Given the description of an element on the screen output the (x, y) to click on. 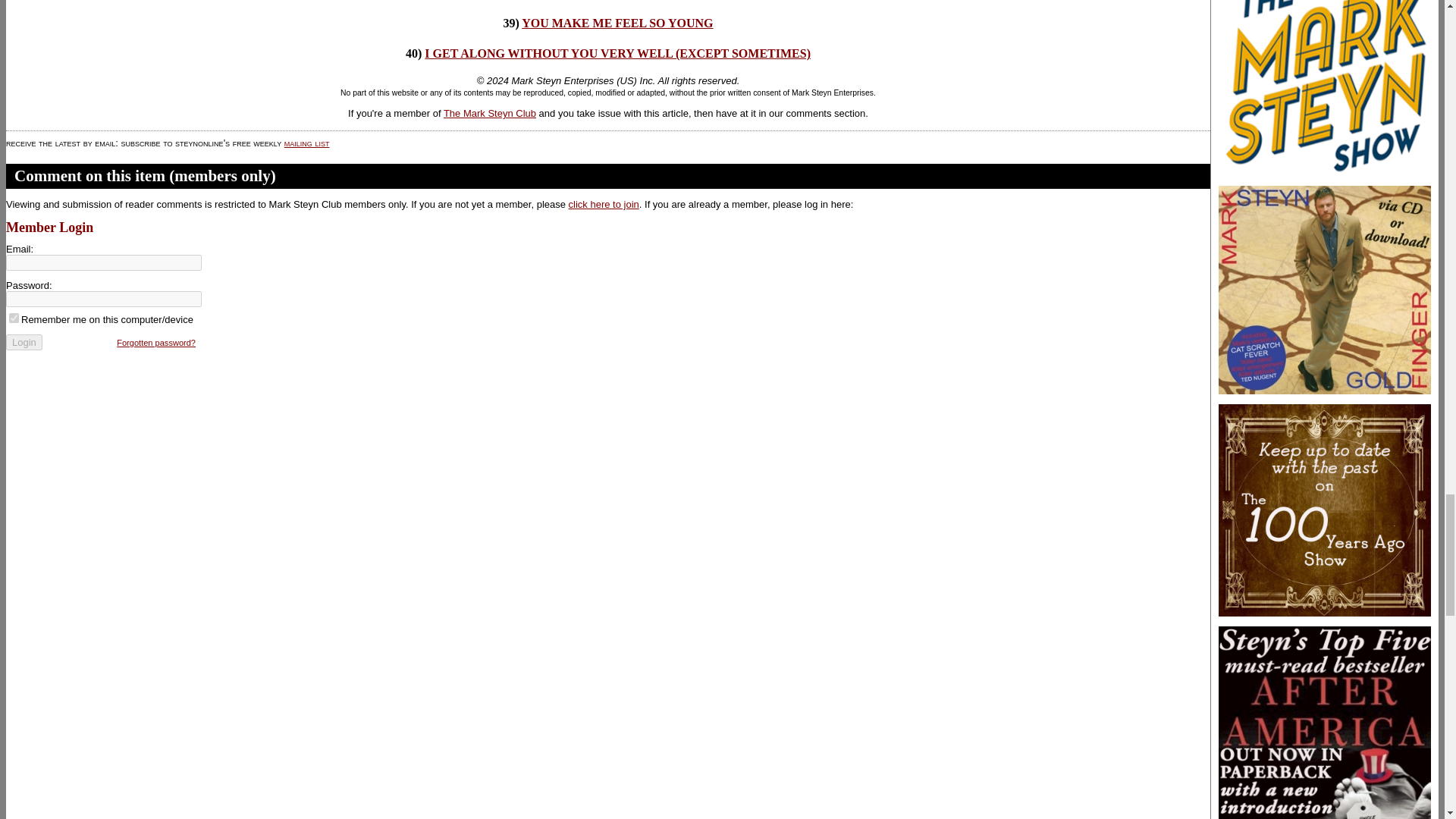
Login (23, 342)
persist (13, 317)
